Given the description of an element on the screen output the (x, y) to click on. 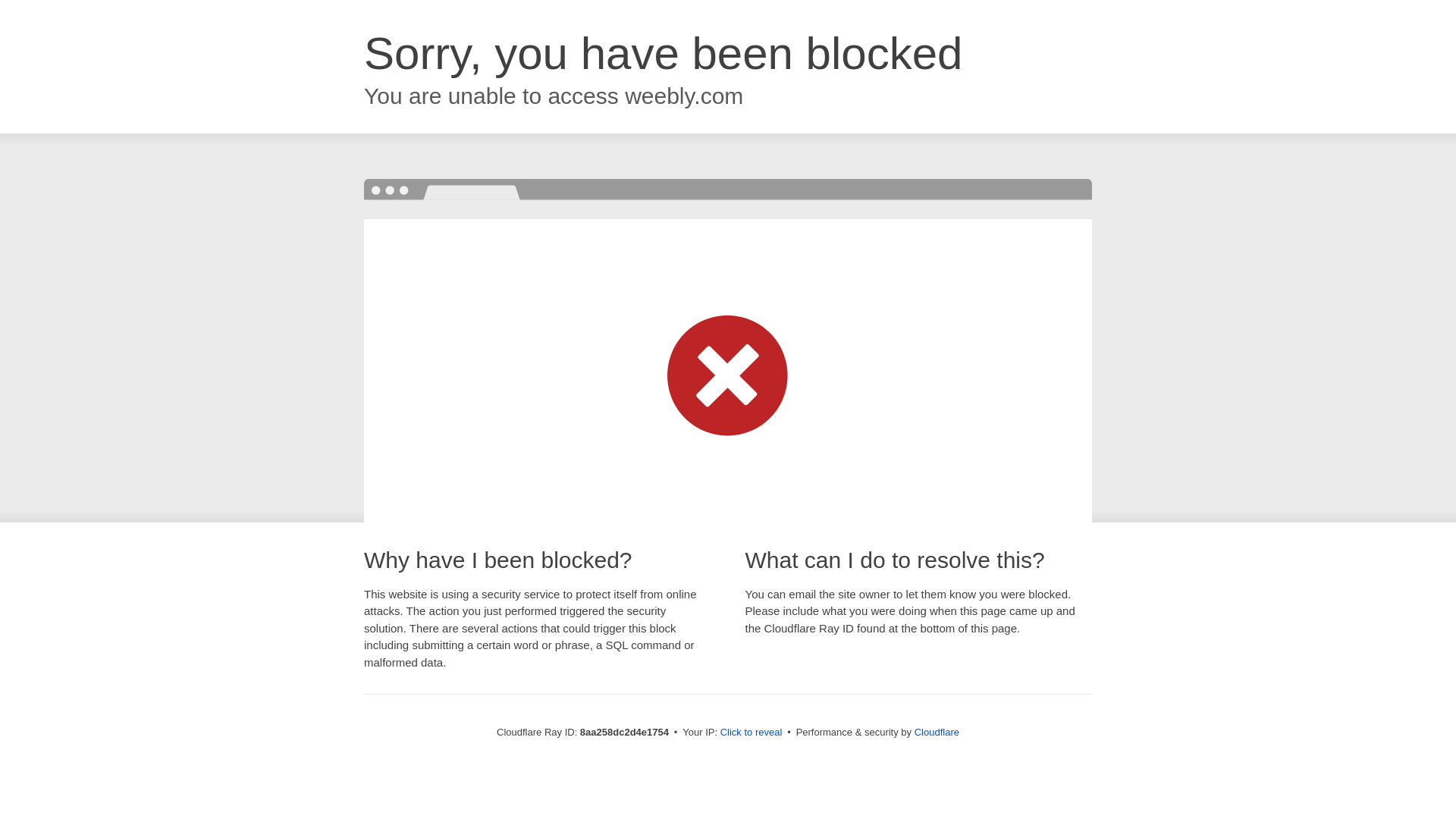
Cloudflare (936, 731)
Click to reveal (751, 732)
